Given the description of an element on the screen output the (x, y) to click on. 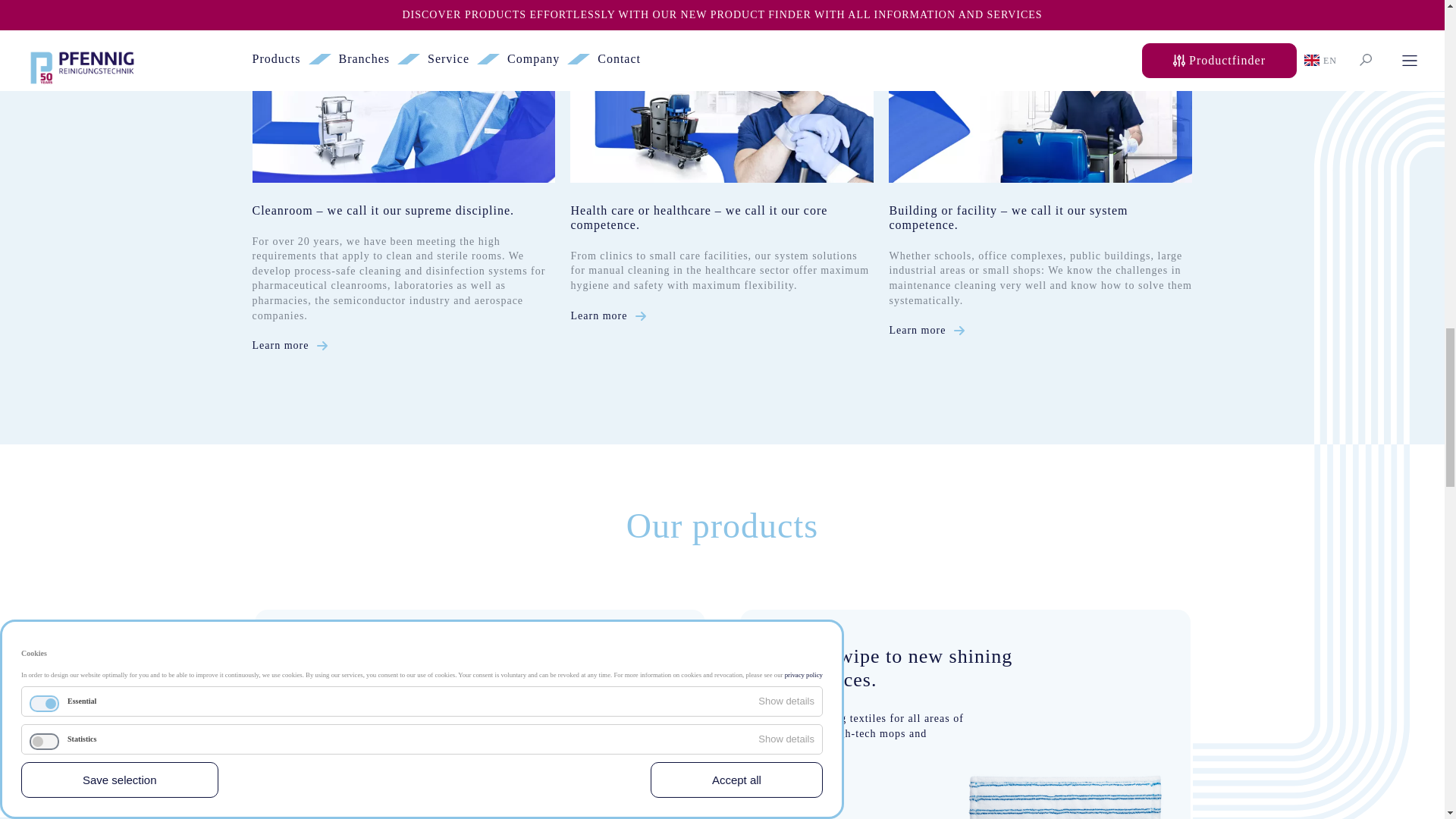
Learn more (931, 329)
Learn more (614, 315)
Learn more (295, 345)
